Given the description of an element on the screen output the (x, y) to click on. 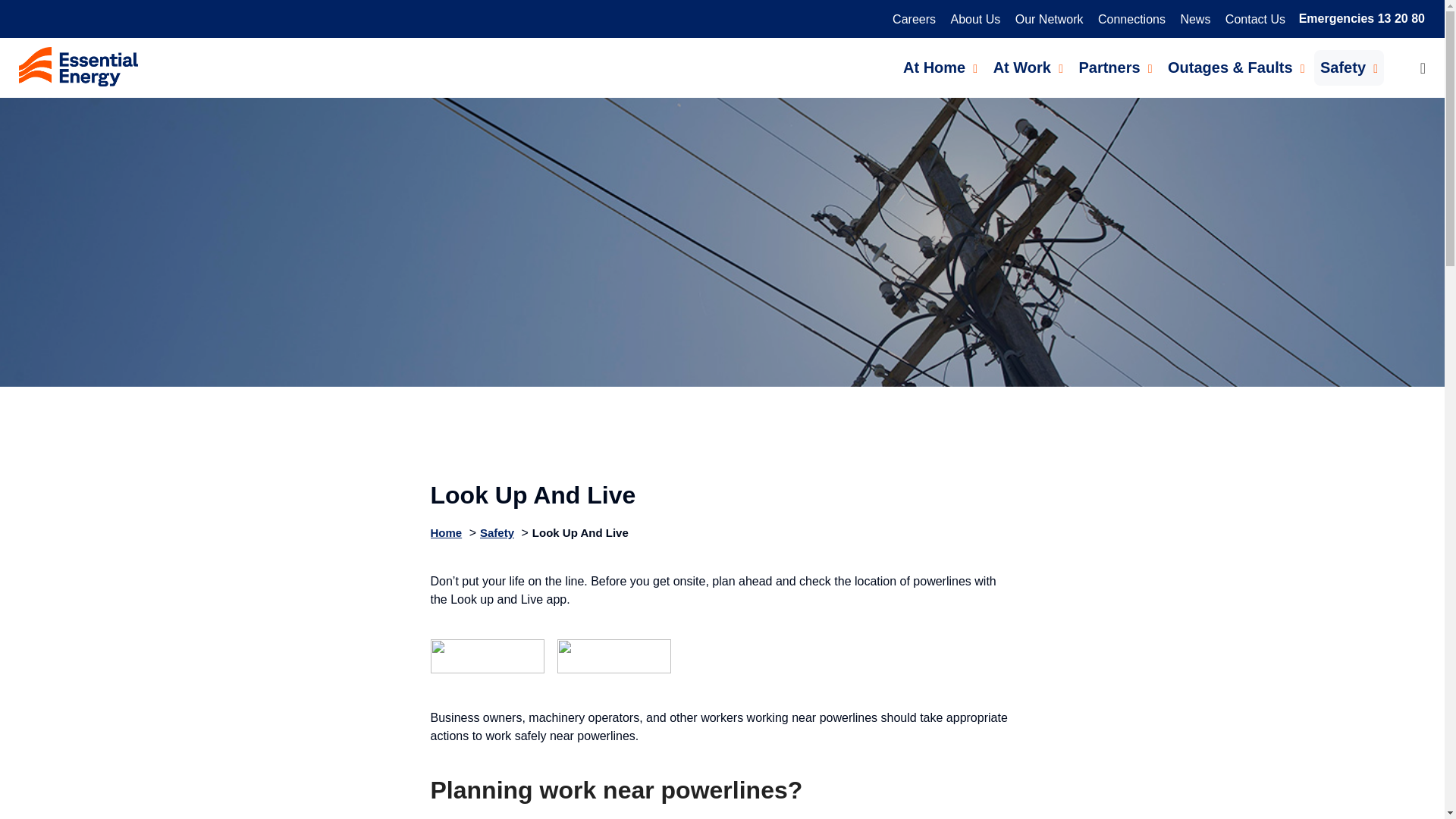
search (1409, 68)
At Work (1027, 67)
At Home (940, 67)
At Home (940, 67)
Partners (1114, 67)
Partners (1114, 67)
At Work (1027, 67)
